Given the description of an element on the screen output the (x, y) to click on. 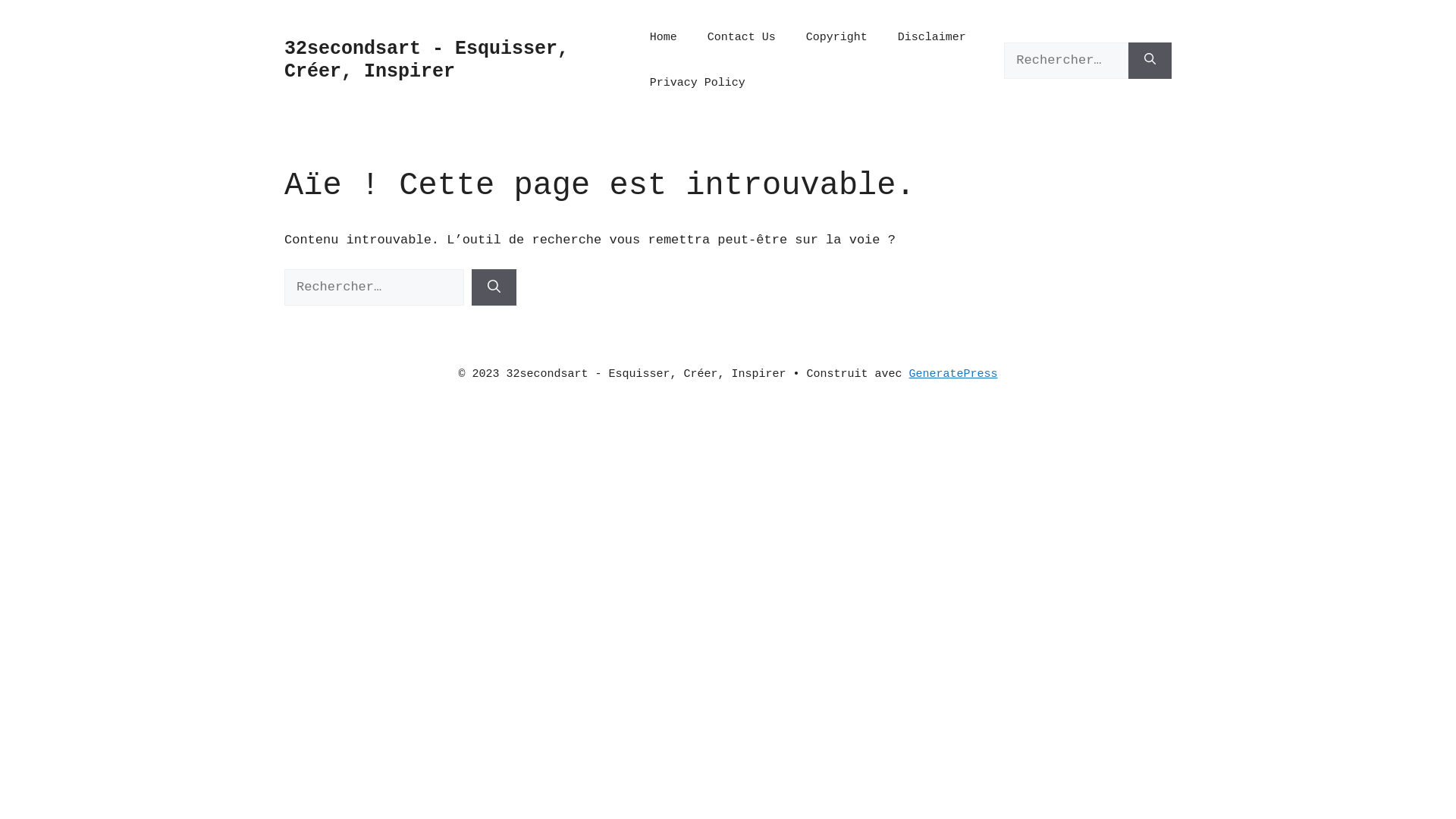
Contact Us Element type: text (741, 37)
GeneratePress Element type: text (953, 373)
Copyright Element type: text (836, 37)
Privacy Policy Element type: text (697, 83)
Home Element type: text (663, 37)
Disclaimer Element type: text (931, 37)
